Given the description of an element on the screen output the (x, y) to click on. 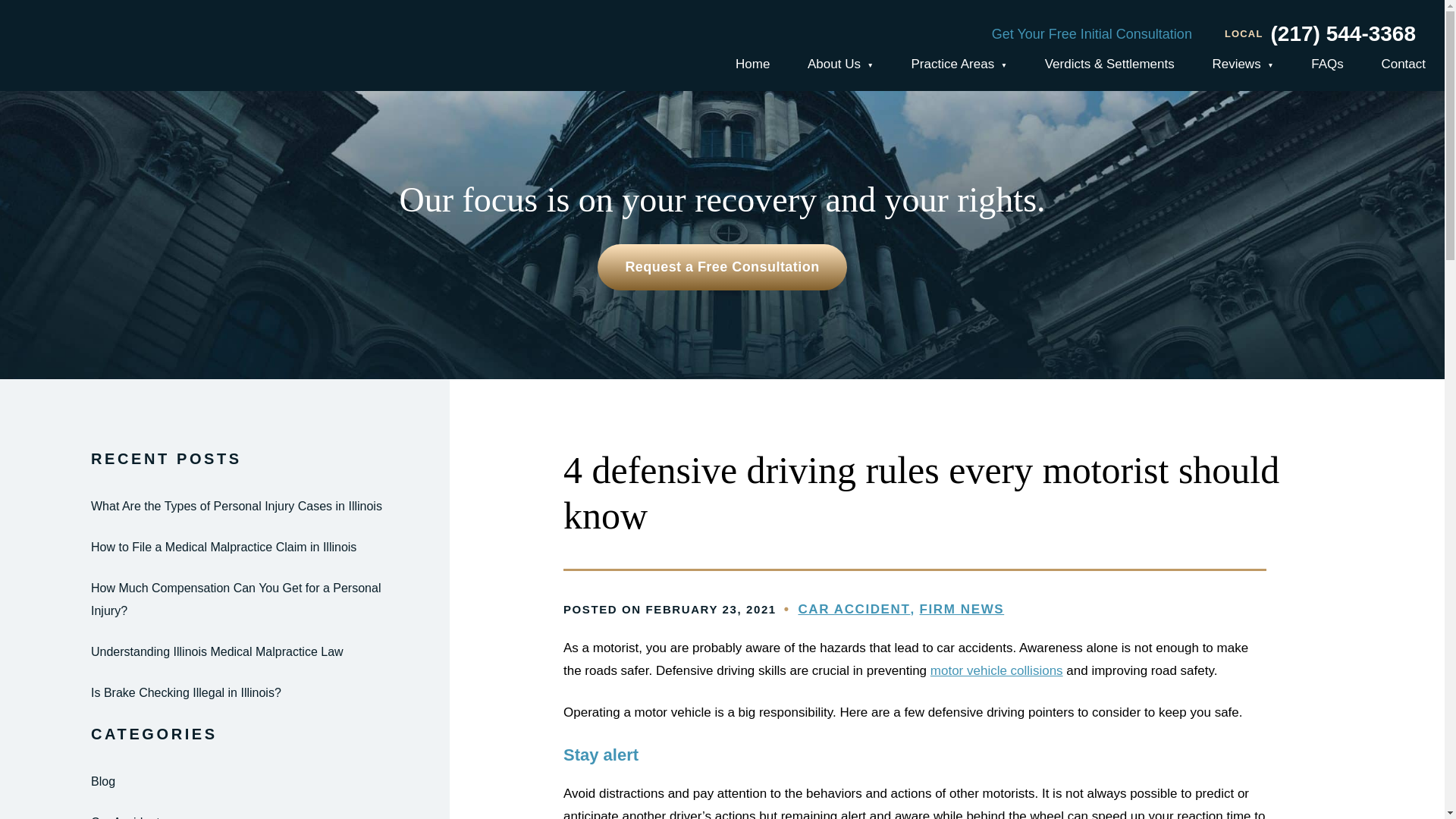
Reviews (1241, 65)
Request a Free Consultation (720, 267)
CAR ACCIDENT (855, 608)
Car Accident (224, 815)
Contact (1402, 64)
Understanding Illinois Medical Malpractice Law (224, 651)
Is Brake Checking Illegal in Illinois? (224, 692)
How to File a Medical Malpractice Claim in Illinois (224, 547)
How Much Compensation Can You Get for a Personal Injury? (224, 599)
What Are the Types of Personal Injury Cases in Illinois (224, 506)
